Given the description of an element on the screen output the (x, y) to click on. 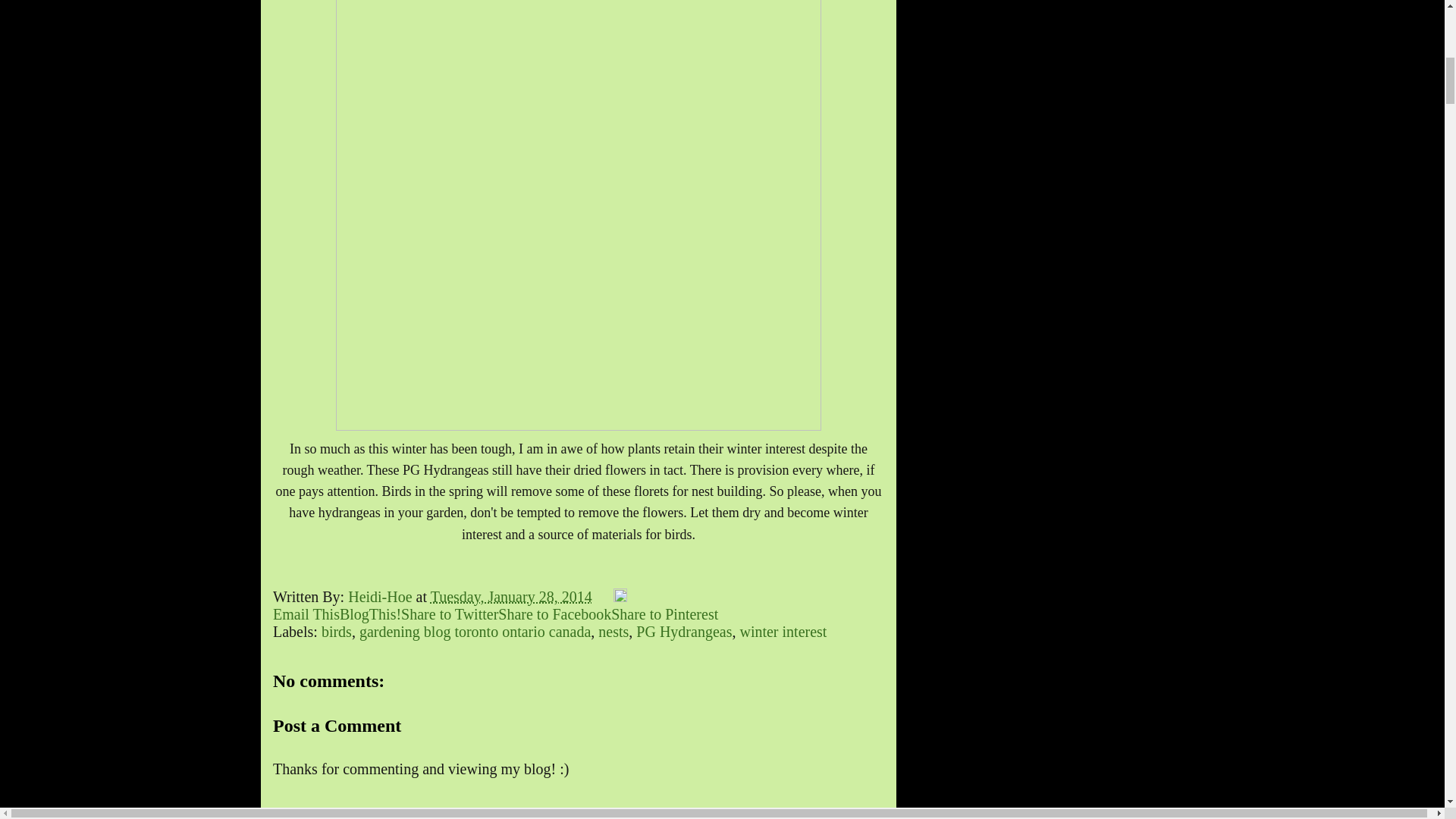
Share to Twitter (449, 614)
Email This (306, 614)
Email This (306, 614)
BlogThis! (370, 614)
Share to Pinterest (664, 614)
author profile (380, 596)
Share to Twitter (449, 614)
PG Hydrangeas (684, 631)
Share to Facebook (554, 614)
Tuesday, January 28, 2014 (511, 596)
permanent link (511, 596)
Heidi-Hoe (380, 596)
Email Post (603, 596)
nests (613, 631)
Share to Facebook (554, 614)
